Given the description of an element on the screen output the (x, y) to click on. 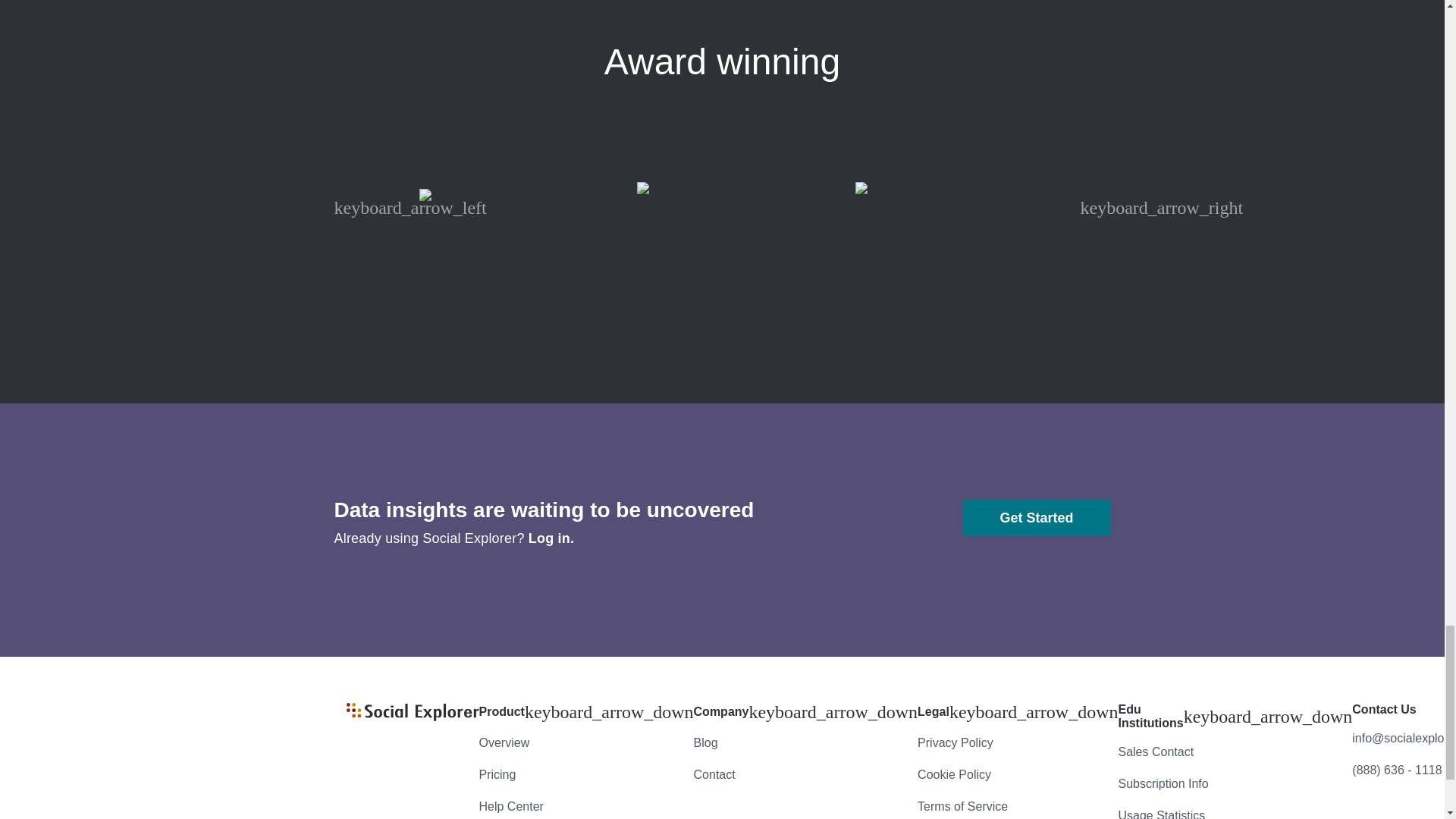
Social Explorer Company (412, 716)
